Given the description of an element on the screen output the (x, y) to click on. 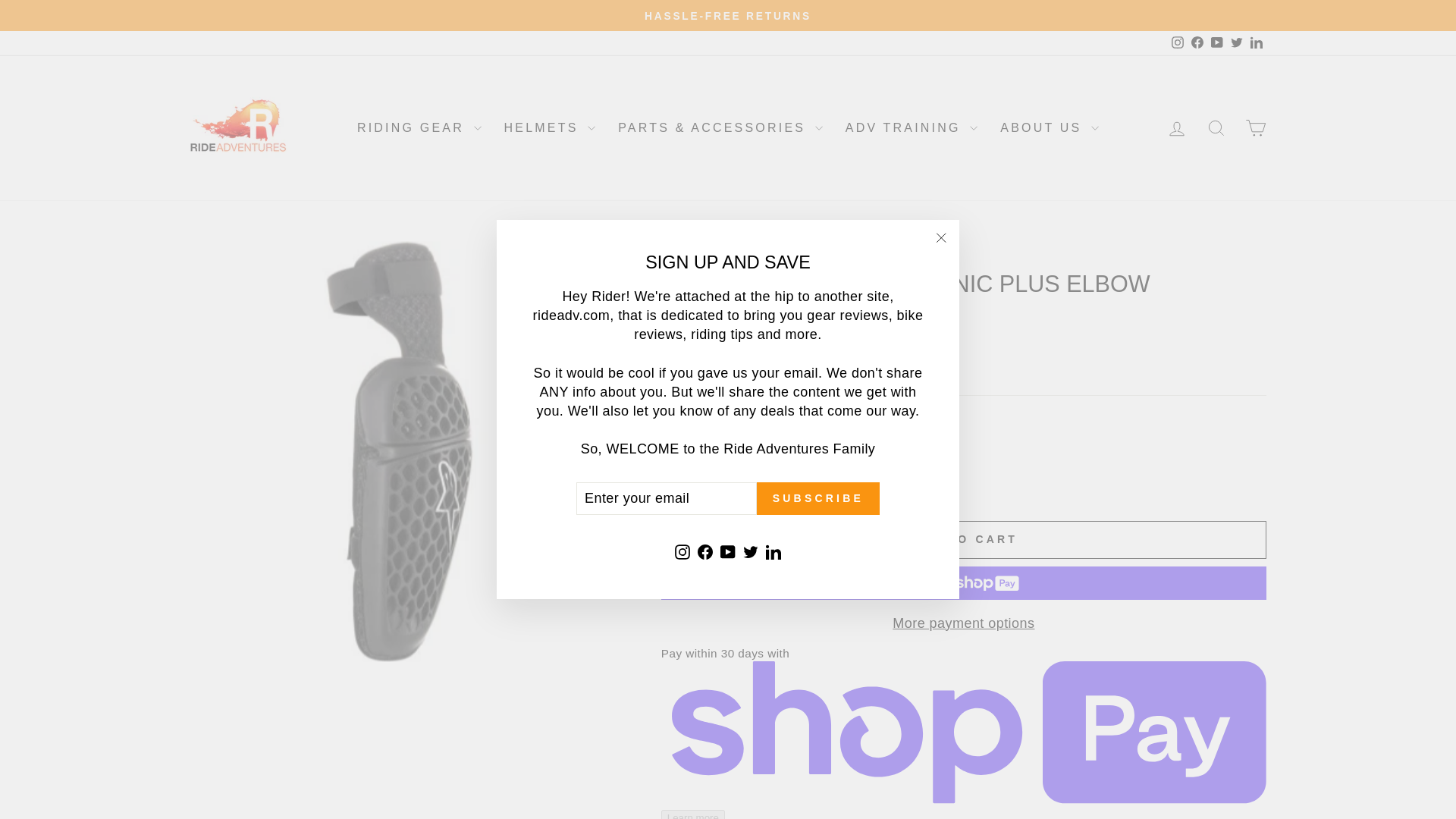
ICON-SEARCH (1216, 127)
Back to the frontpage (677, 256)
twitter (1236, 42)
ACCOUNT (1177, 128)
icon-X (941, 237)
instagram (1177, 42)
